Given the description of an element on the screen output the (x, y) to click on. 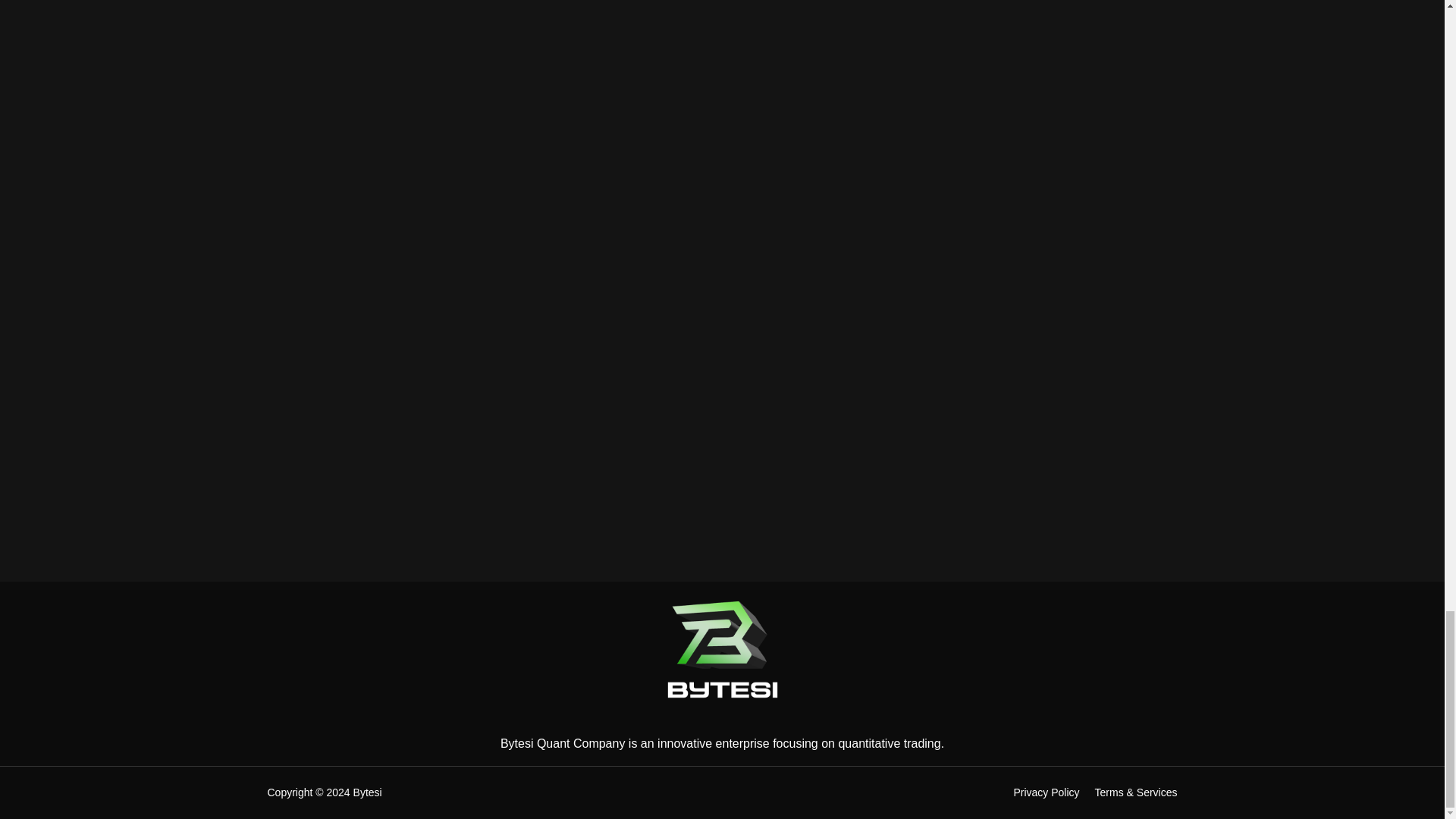
Privacy Policy (1045, 792)
